Given the description of an element on the screen output the (x, y) to click on. 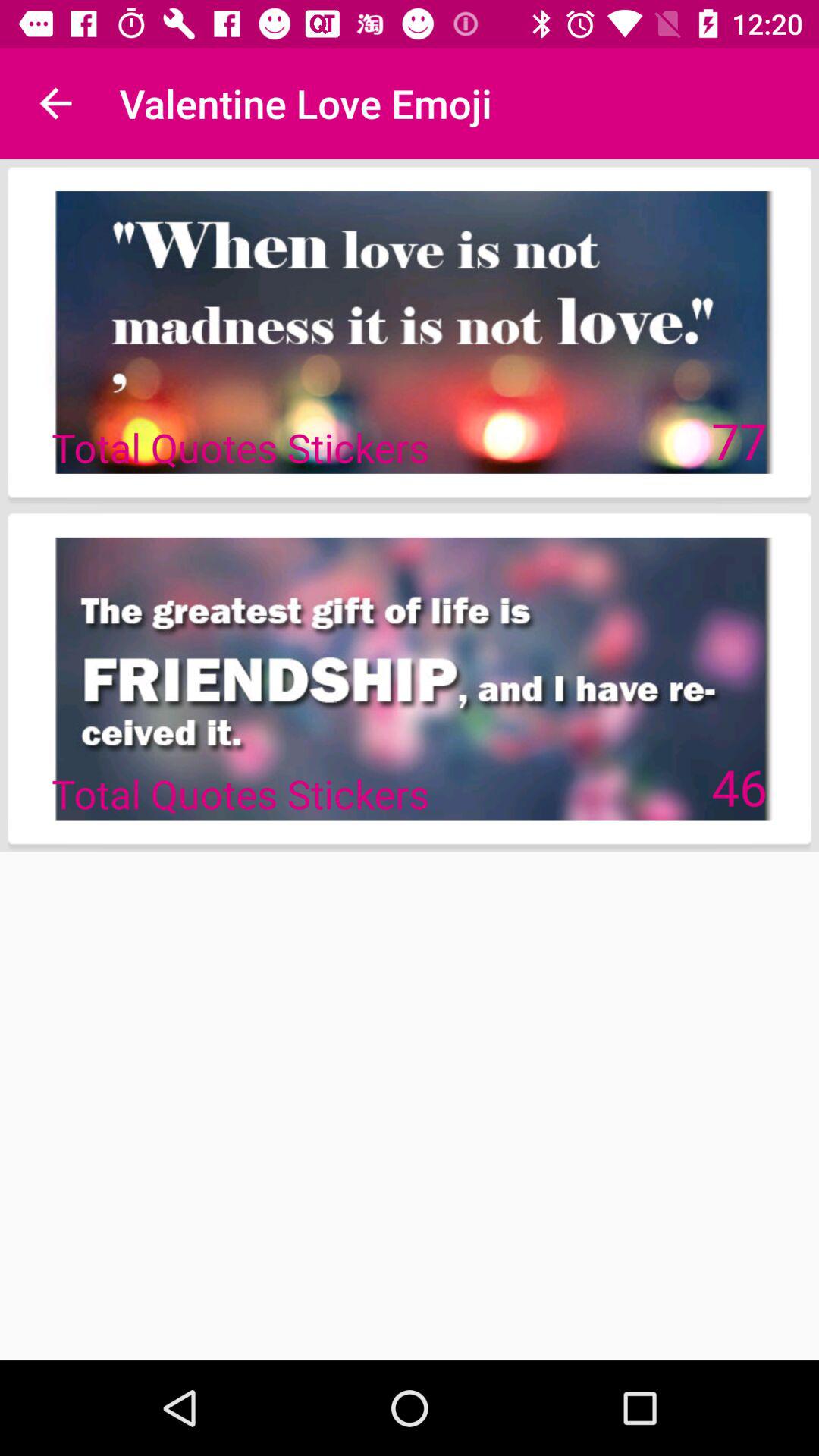
scroll to the 77 icon (739, 440)
